Given the description of an element on the screen output the (x, y) to click on. 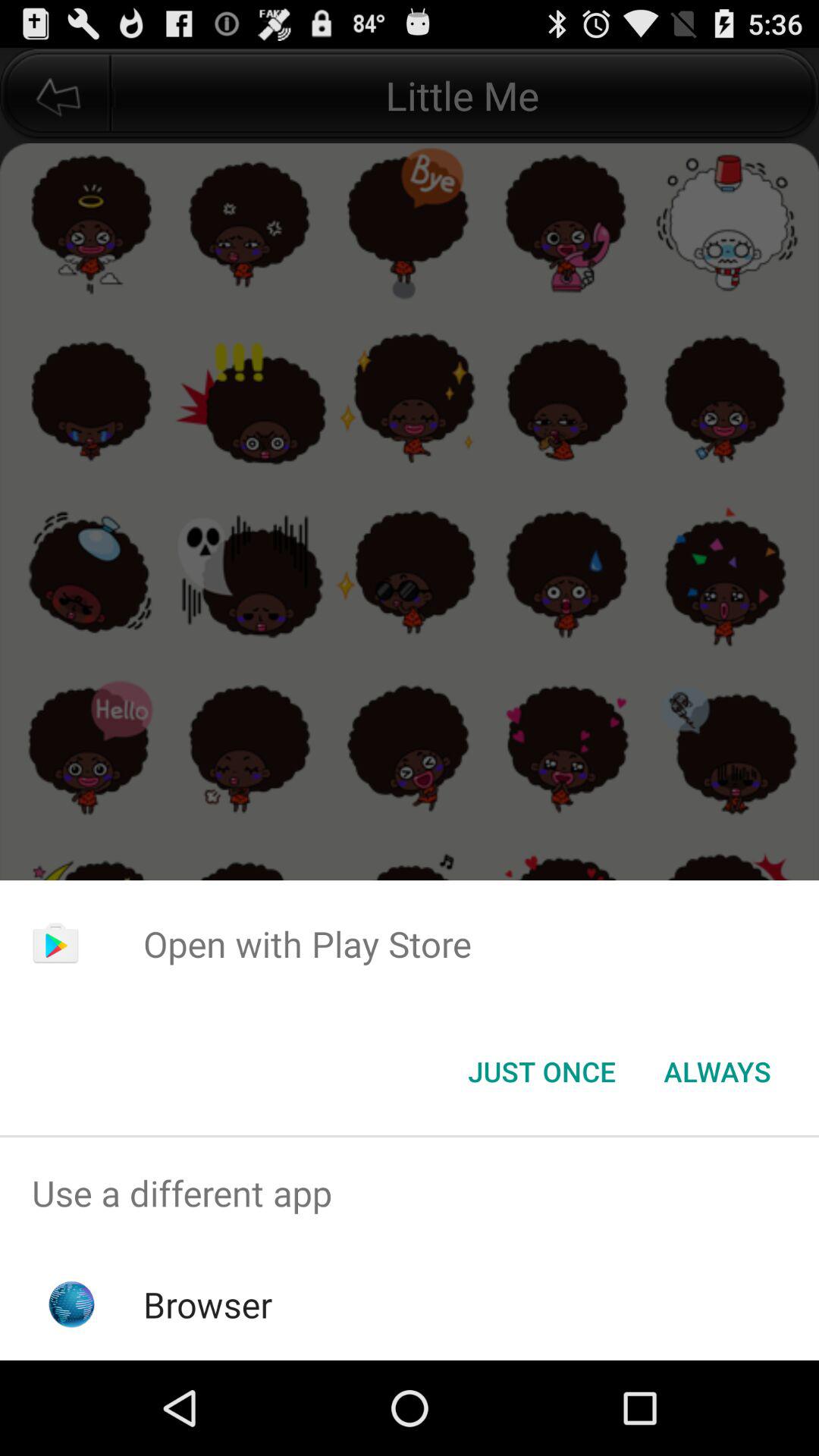
tap the button at the bottom right corner (717, 1071)
